Given the description of an element on the screen output the (x, y) to click on. 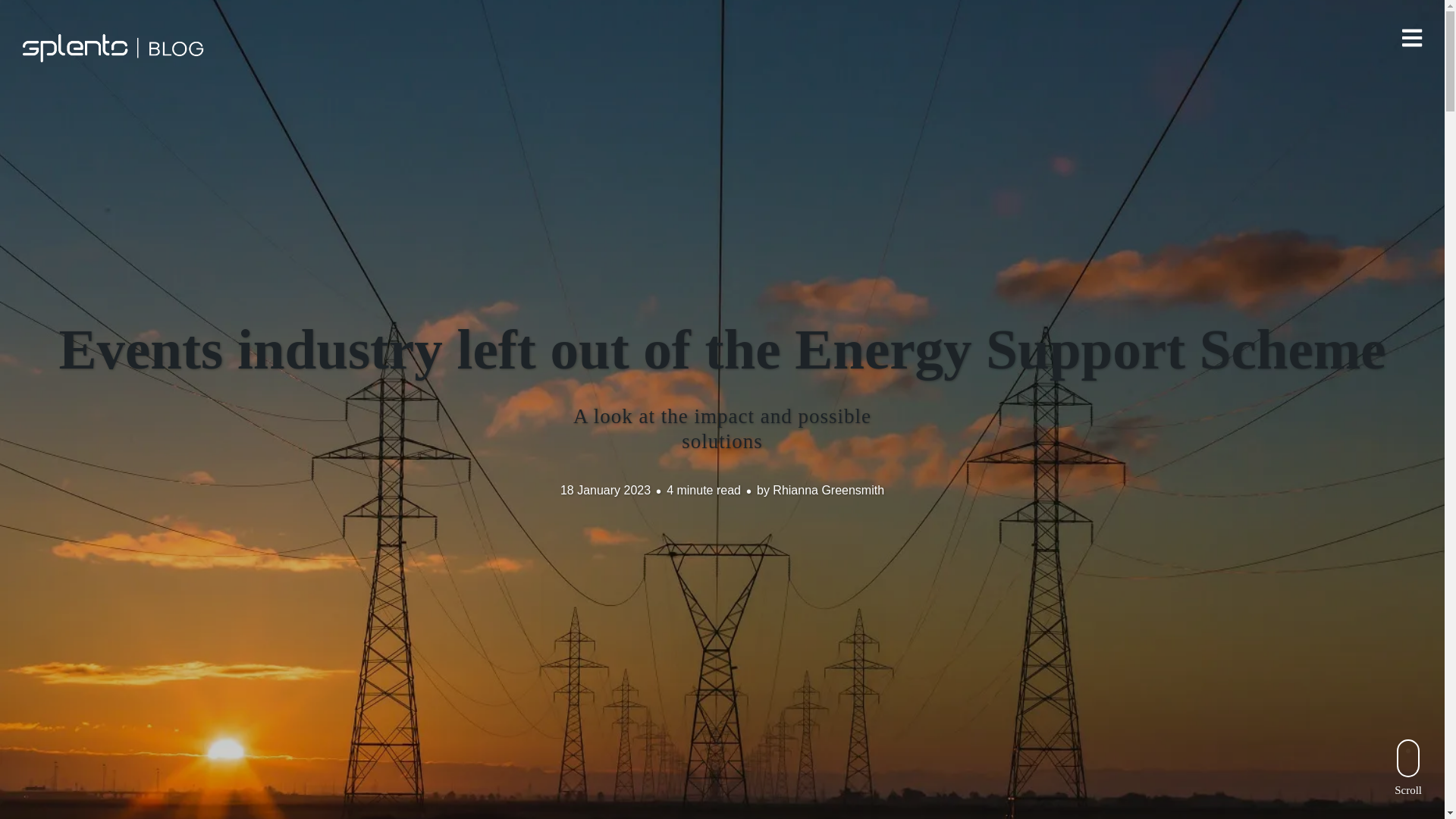
Rhianna Greensmith (828, 490)
18 January 2023 (605, 490)
Home (115, 47)
